Given the description of an element on the screen output the (x, y) to click on. 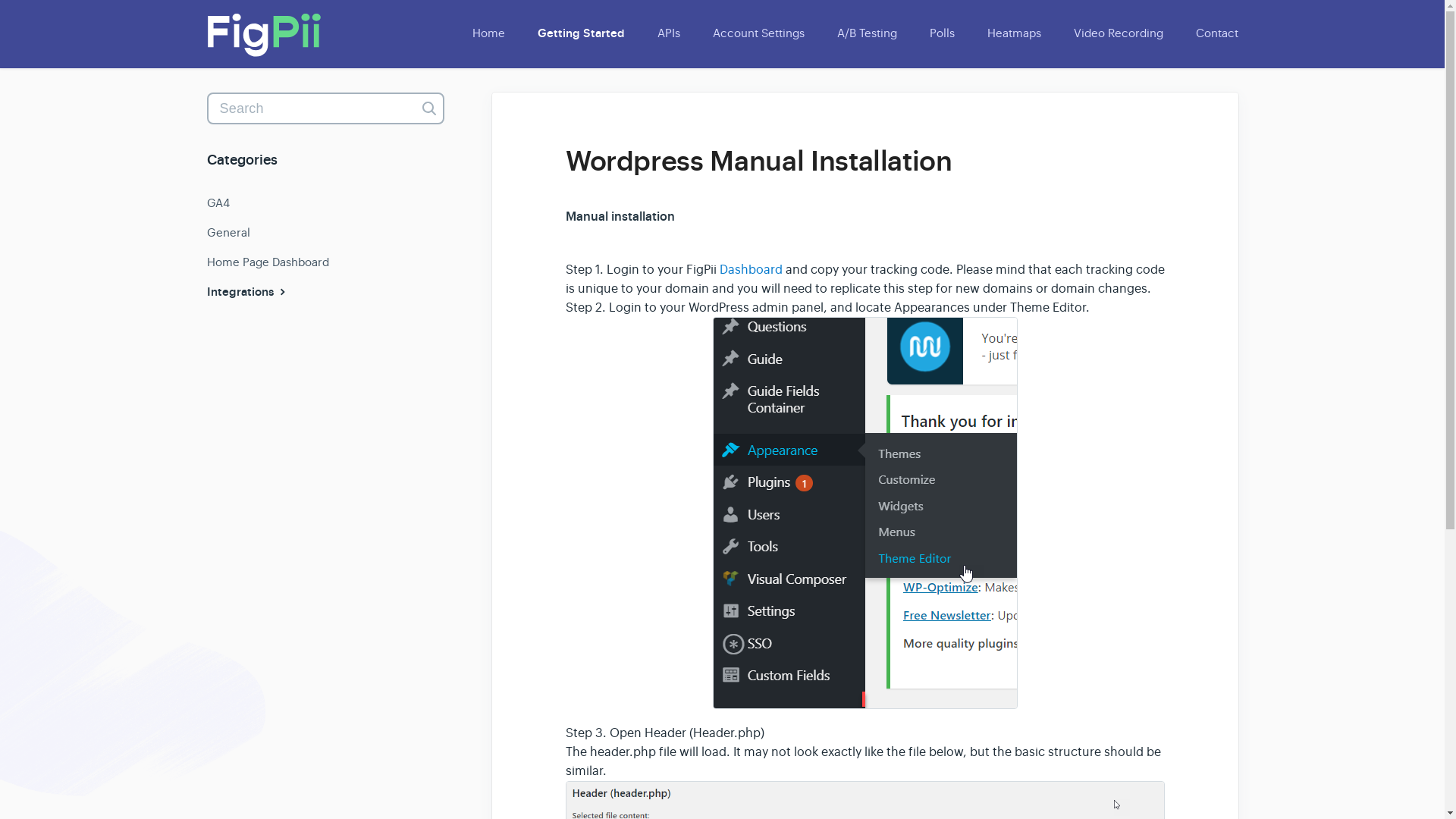
Integrations (253, 291)
Dashboard  (752, 269)
General (233, 232)
GA4 (223, 203)
Video Recording (1117, 33)
search-query (325, 108)
Heatmaps (1014, 33)
Getting Started (580, 33)
Home (488, 33)
Toggle Search (428, 108)
